Given the description of an element on the screen output the (x, y) to click on. 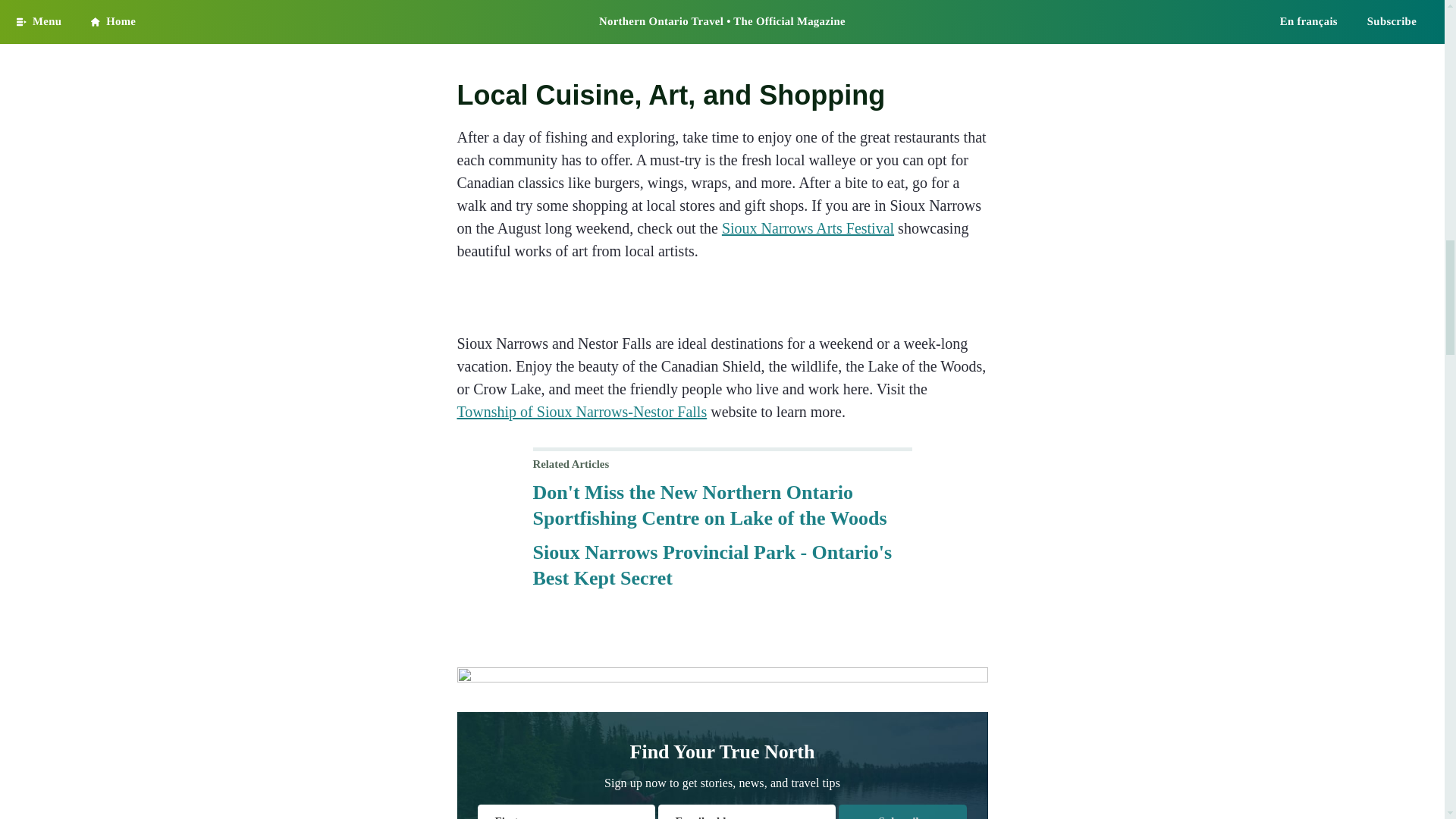
Sioux Narrows Arts Festival (807, 228)
Information on the Township of Sioux Narrows-Nestor Falls (581, 411)
